Given the description of an element on the screen output the (x, y) to click on. 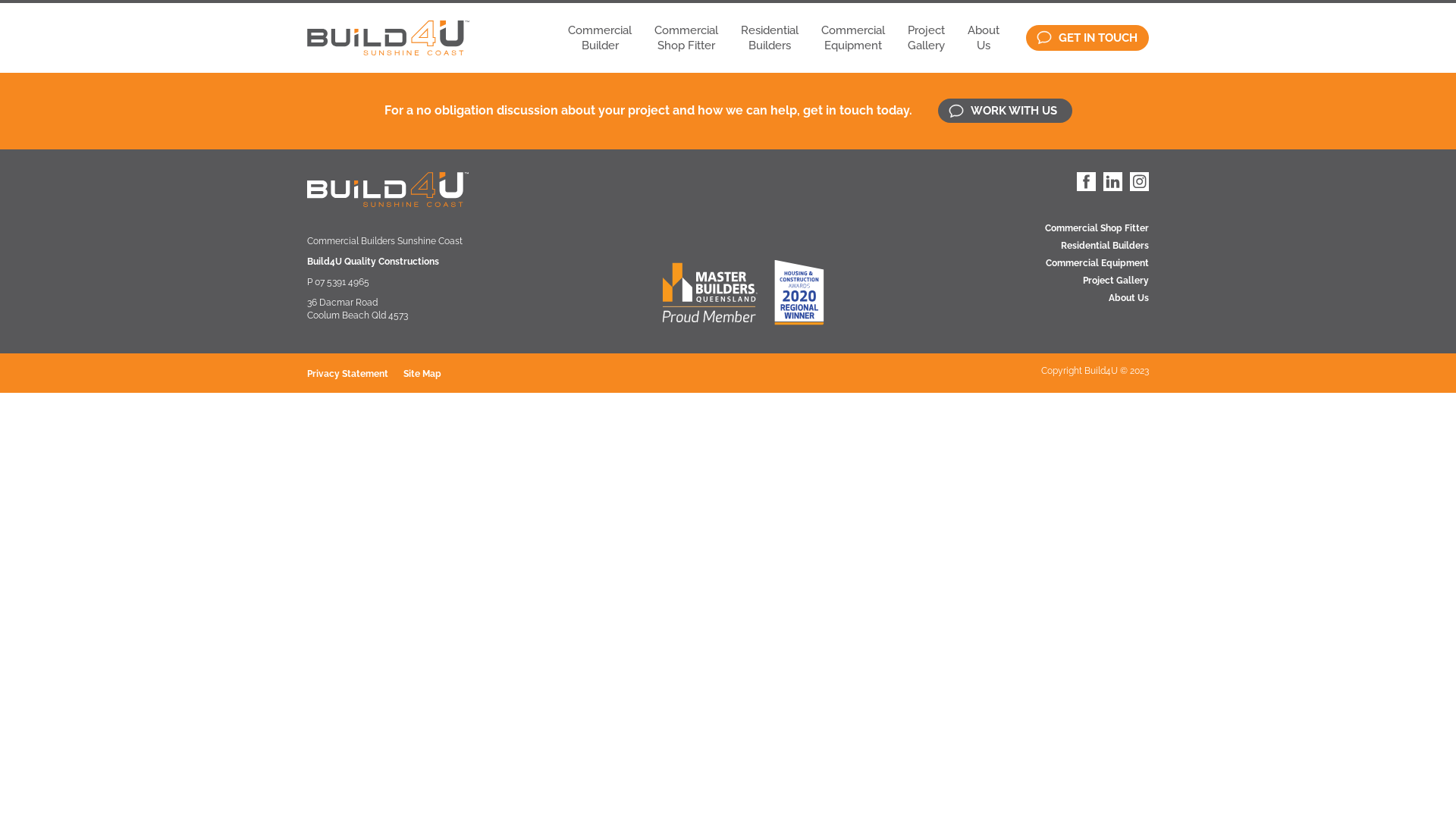
Project
Gallery Element type: text (926, 37)
About
Us Element type: text (983, 37)
Project Gallery Element type: text (1096, 280)
GET IN TOUCH Element type: text (1087, 37)
Commercial Shop Fitter Element type: text (1096, 228)
WORK WITH US Element type: text (1004, 110)
Commercial
Shop Fitter Element type: text (686, 37)
Commercial Equipment Element type: text (1096, 263)
Residential Builders Element type: text (1096, 245)
Residential
Builders Element type: text (769, 37)
Site Map Element type: text (429, 373)
07 5391 4965 Element type: text (341, 281)
Commercial
Builder Element type: text (599, 37)
Commercial
Equipment Element type: text (852, 37)
Privacy Statement Element type: text (355, 373)
About Us Element type: text (1096, 298)
